Given the description of an element on the screen output the (x, y) to click on. 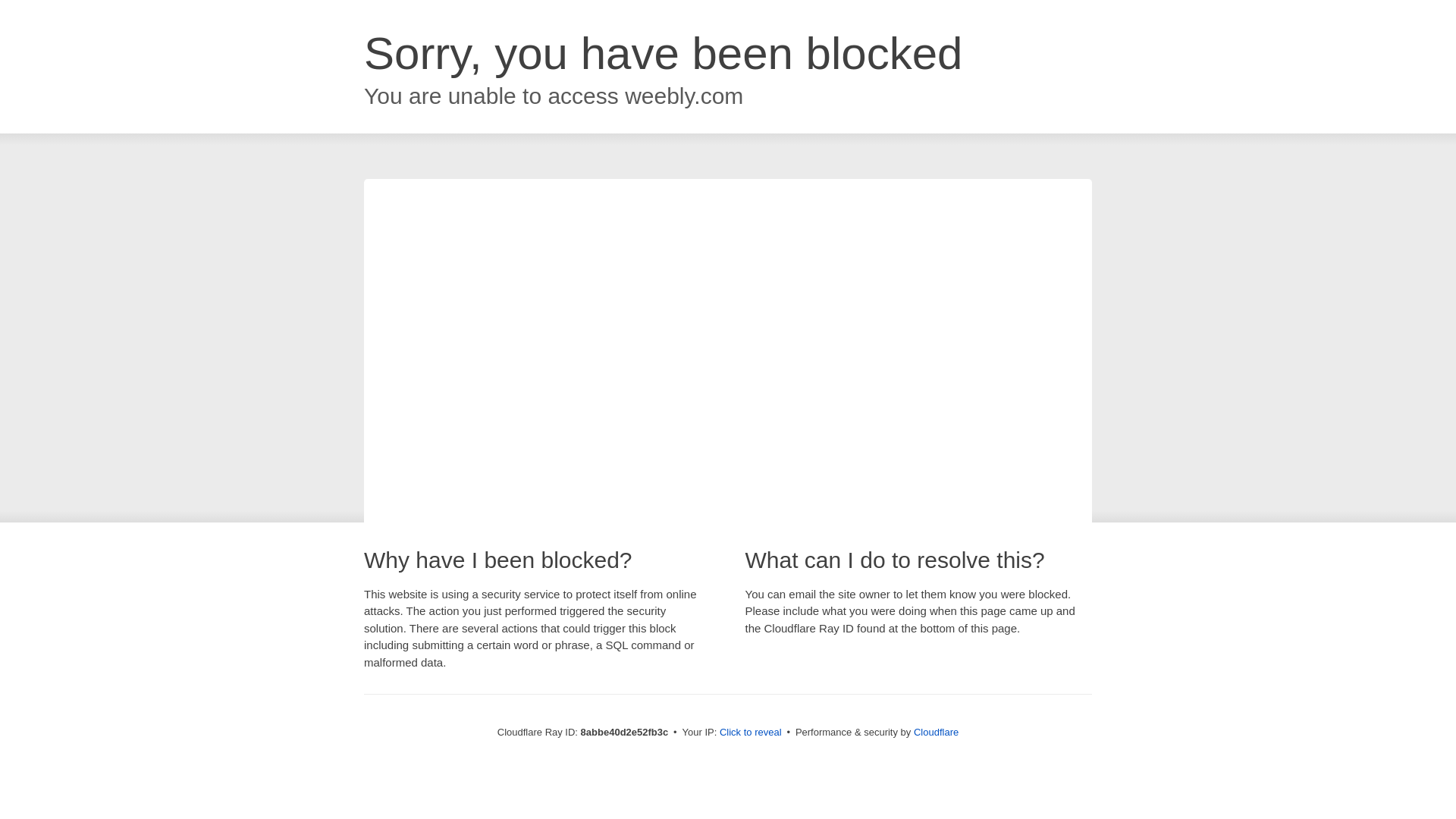
Cloudflare (936, 731)
Click to reveal (750, 732)
